Given the description of an element on the screen output the (x, y) to click on. 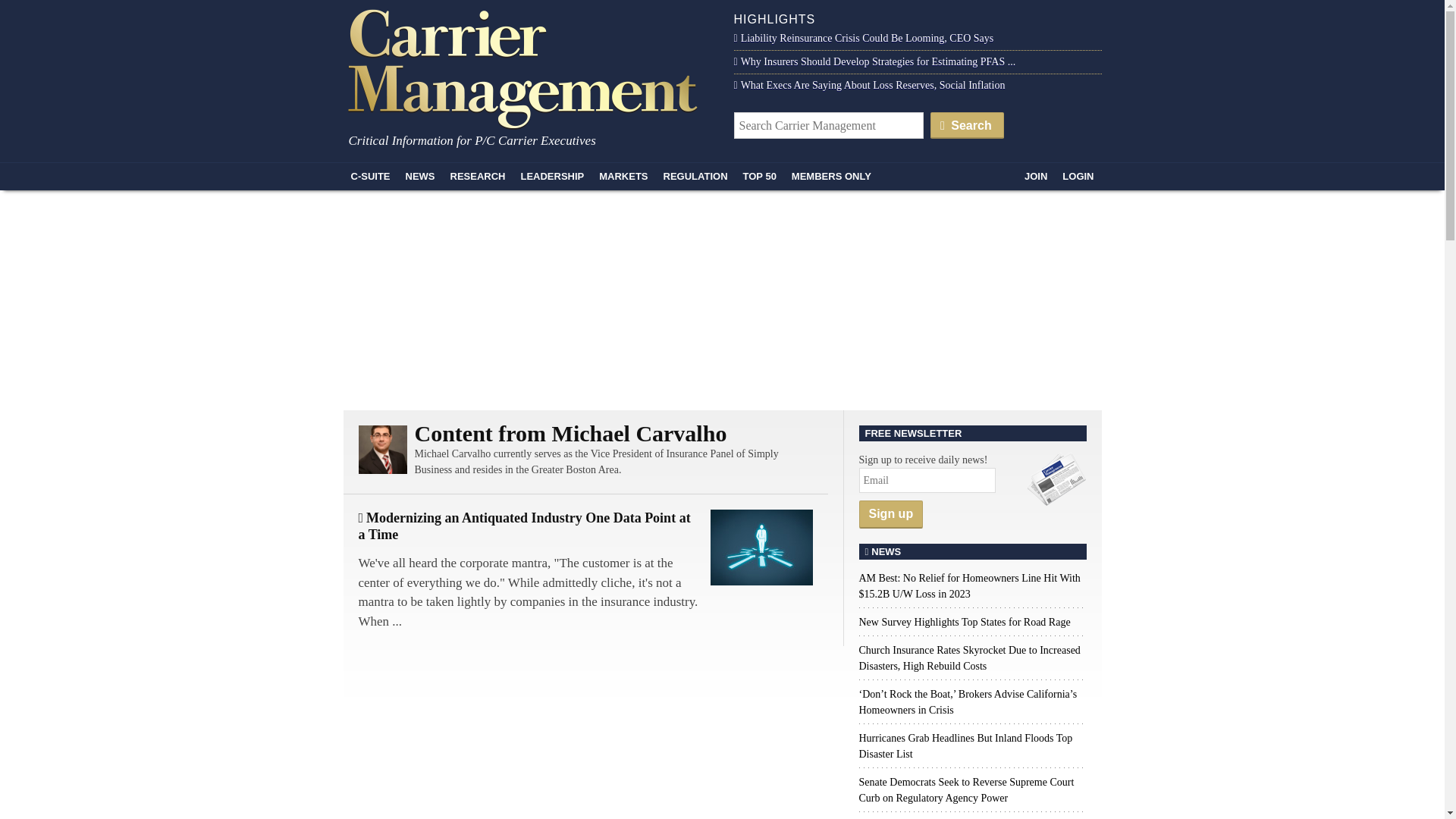
MEMBERS ONLY (831, 176)
LEADERSHIP (551, 176)
NEWS (419, 176)
LOGIN (1077, 176)
What Execs Are Saying About Loss Reserves, Social Inflation (869, 84)
TOP 50 (759, 176)
New Survey Highlights Top States for Road Rage (964, 622)
MARKETS (623, 176)
REGULATION (695, 176)
Liability Reinsurance Crisis Could Be Looming, CEO Says (863, 38)
Search (967, 125)
Carrier Management (527, 67)
